Given the description of an element on the screen output the (x, y) to click on. 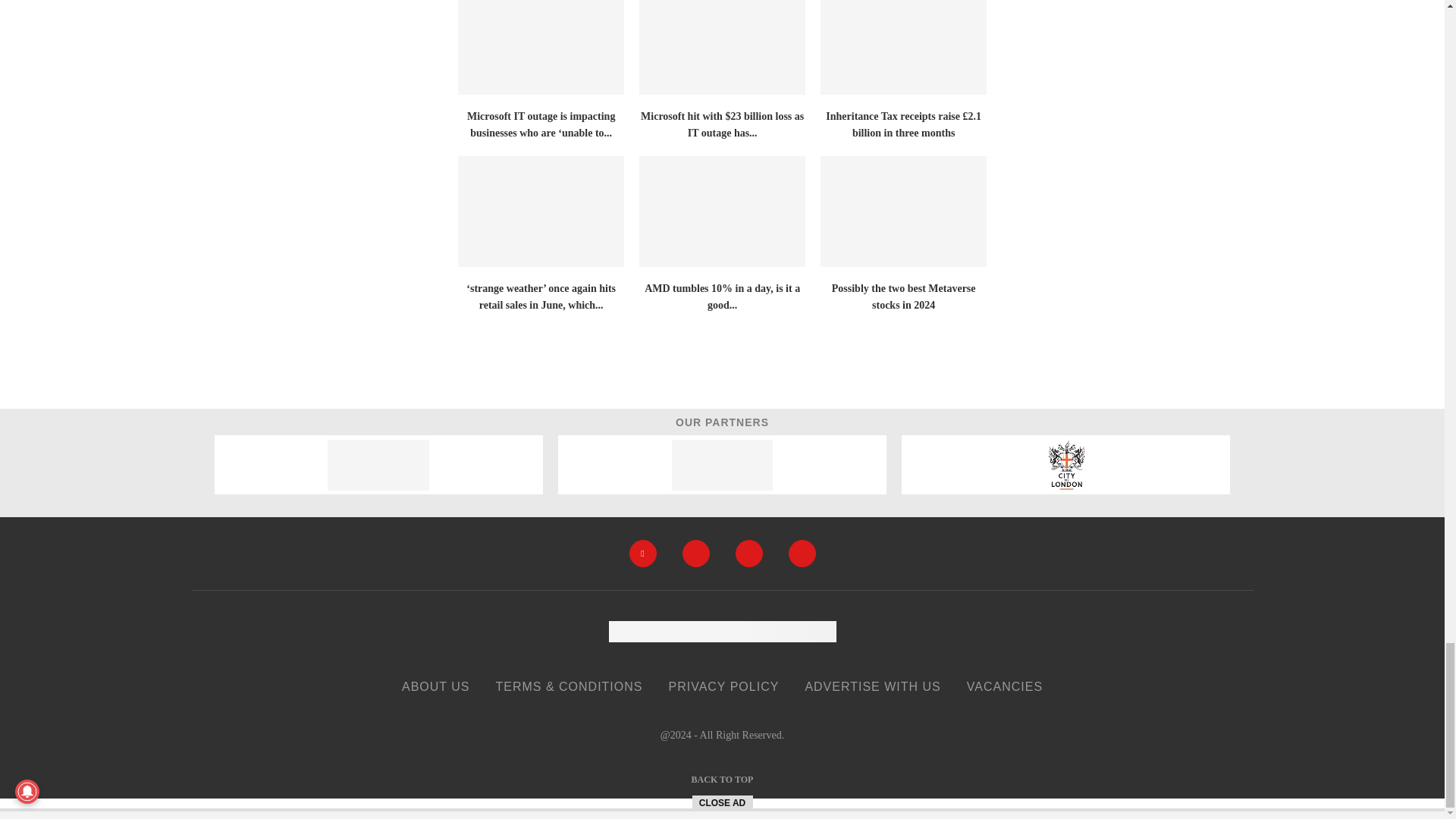
Possibly the two best Metaverse stocks in 2024 (904, 211)
